Given the description of an element on the screen output the (x, y) to click on. 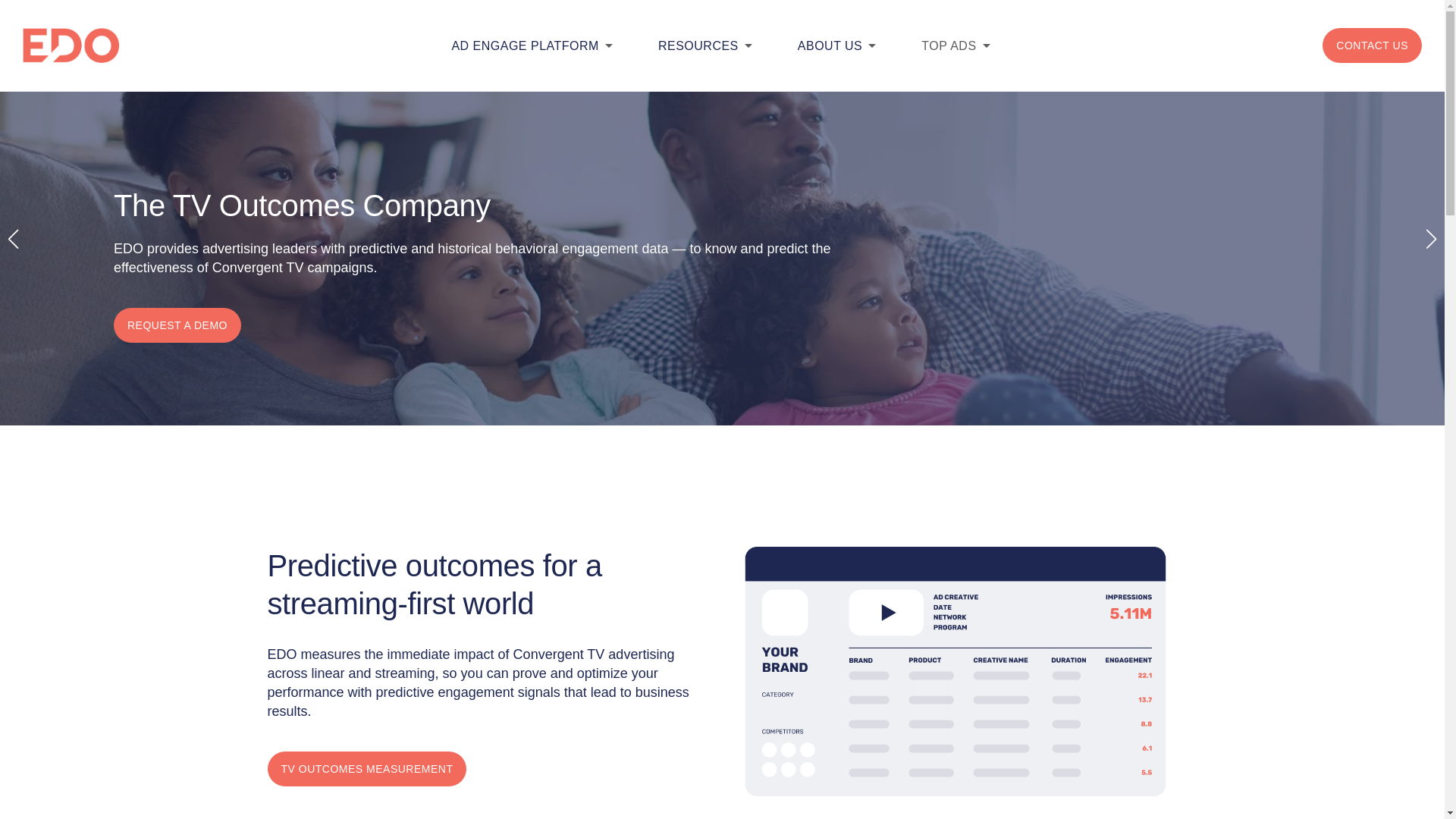
Button Request A Demo (177, 325)
EDO AdEngage Dash (955, 671)
ABOUT US (830, 45)
AD ENGAGE PLATFORM (524, 45)
Button Tv outcomes measurement (365, 768)
RESOURCES (698, 45)
